Given the description of an element on the screen output the (x, y) to click on. 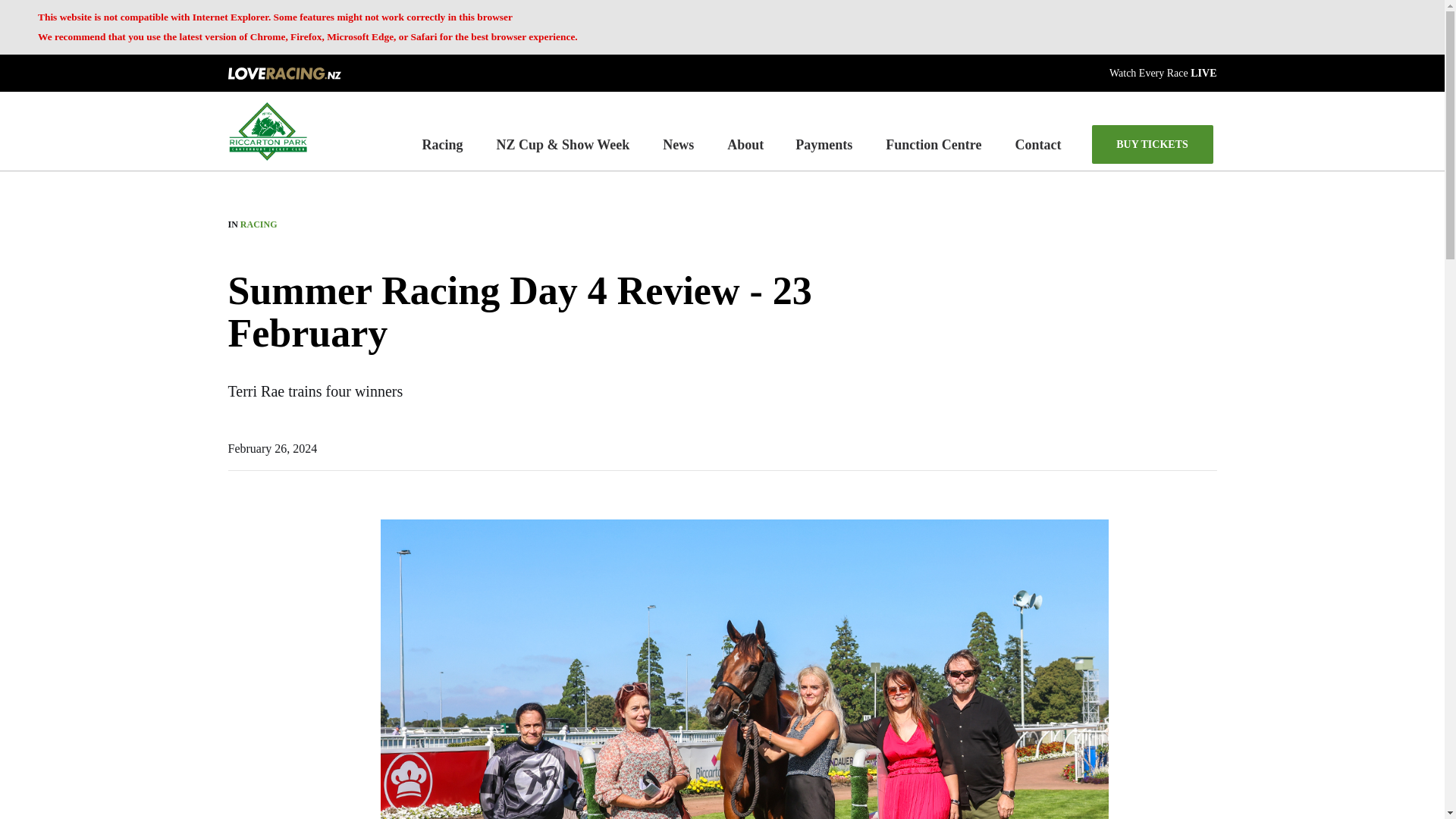
Facebook Link to share article on Facebook (235, 526)
Copy Copy article link to clipboard (235, 640)
LinkedIn Link to share article on Twitter (235, 602)
LinkedIn Link to share article on Twitter (235, 602)
Payments (822, 143)
Facebook Link to share article on Facebook (235, 526)
Copy Copy article link to clipboard (235, 640)
BUY TICKETS (1152, 144)
RACING (259, 224)
Function Centre (933, 143)
Twitter Link to share article on Twitter (235, 564)
Twitter Link to share article on Twitter (235, 564)
Watch Every Race LIVE (1163, 71)
